Given the description of an element on the screen output the (x, y) to click on. 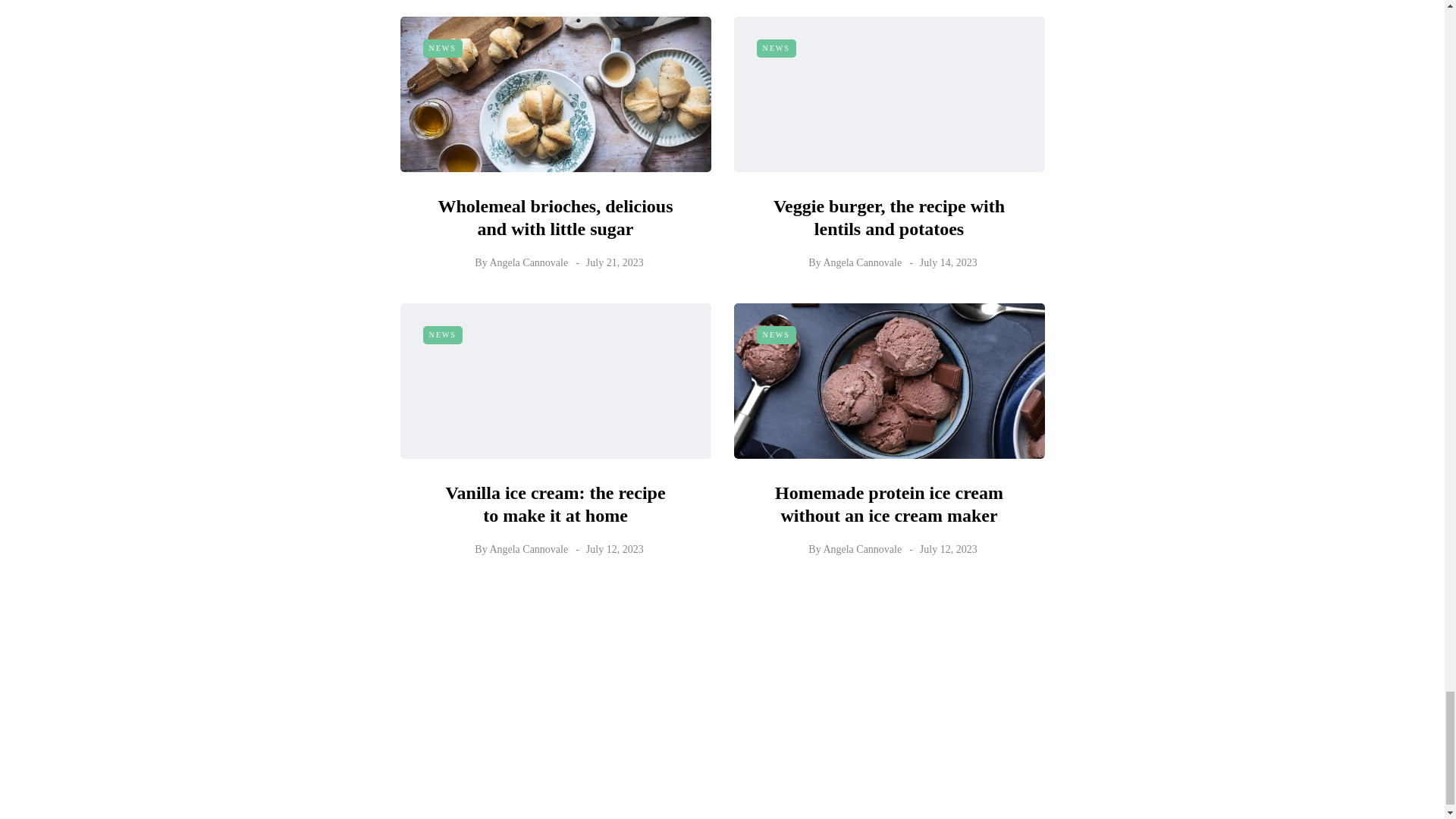
NEWS (443, 334)
Wholemeal brioches, delicious and with little sugar (555, 217)
Angela Cannovale (528, 262)
Veggie burger, the recipe with lentils and potatoes (888, 217)
NEWS (776, 48)
Posts by Angela Cannovale (861, 262)
NEWS (443, 48)
Posts by Angela Cannovale (528, 549)
Vanilla ice cream: the recipe to make it at home (555, 504)
Posts by Angela Cannovale (528, 262)
